Given the description of an element on the screen output the (x, y) to click on. 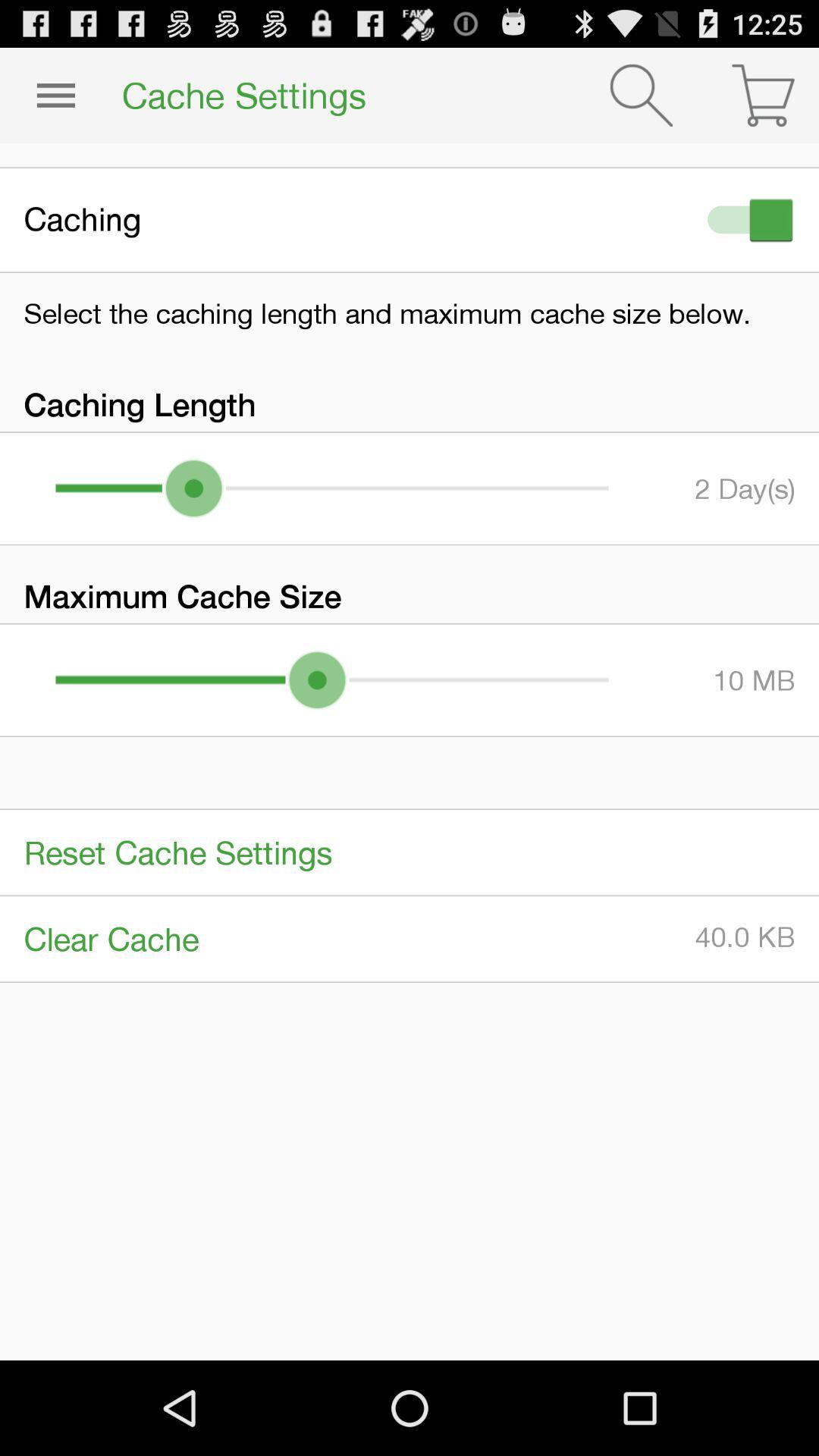
he can activate the simple voice command (747, 219)
